Given the description of an element on the screen output the (x, y) to click on. 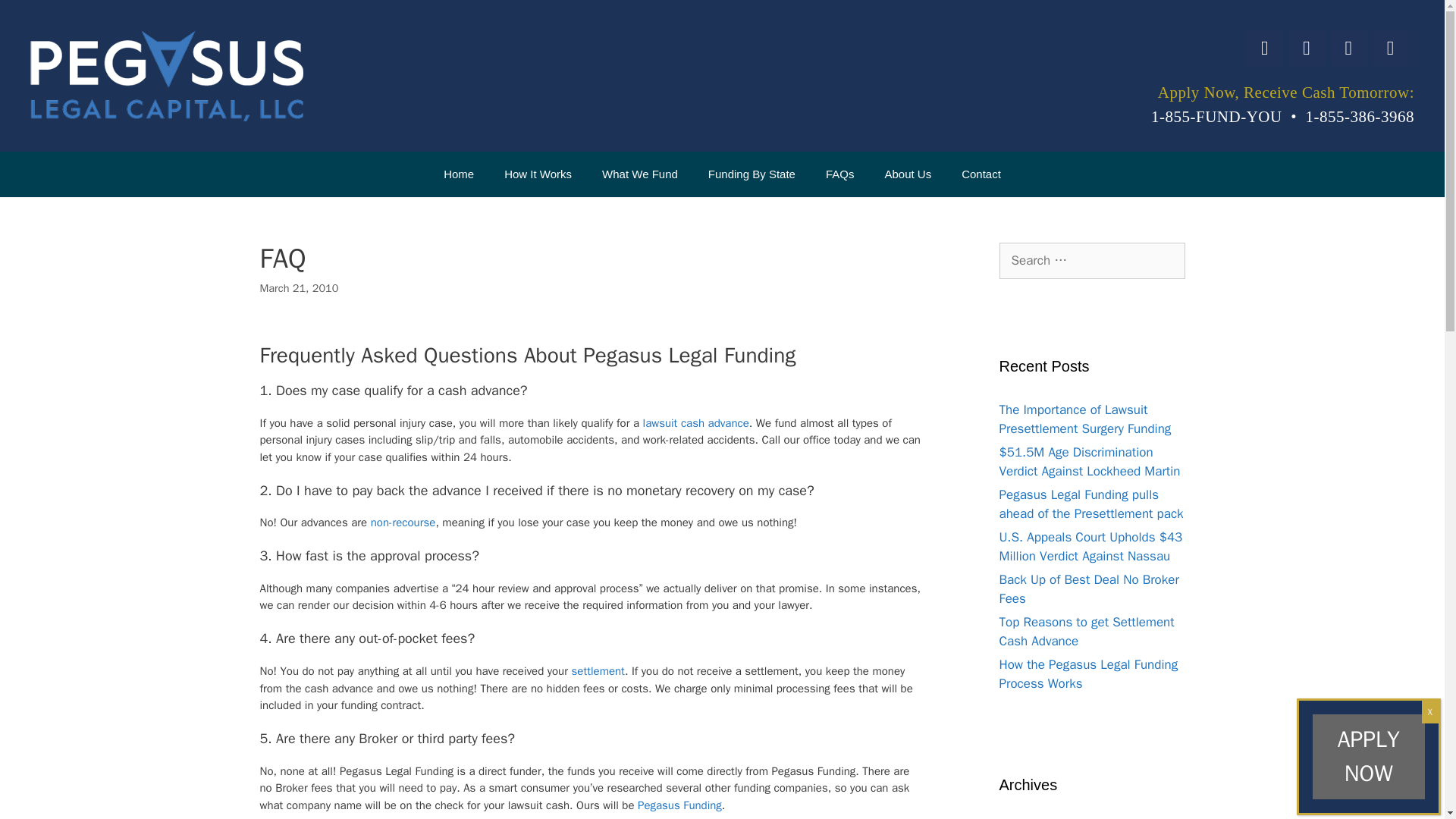
8:17 pm (298, 287)
FAQs (839, 174)
How It Works (537, 174)
About Us (907, 174)
Home (458, 174)
Twitter (1305, 48)
LinkedIn (1348, 48)
like lawsuit loan (696, 422)
Funding By State (751, 174)
What We Fund (639, 174)
Facebook (1264, 48)
Contact (981, 174)
